Given the description of an element on the screen output the (x, y) to click on. 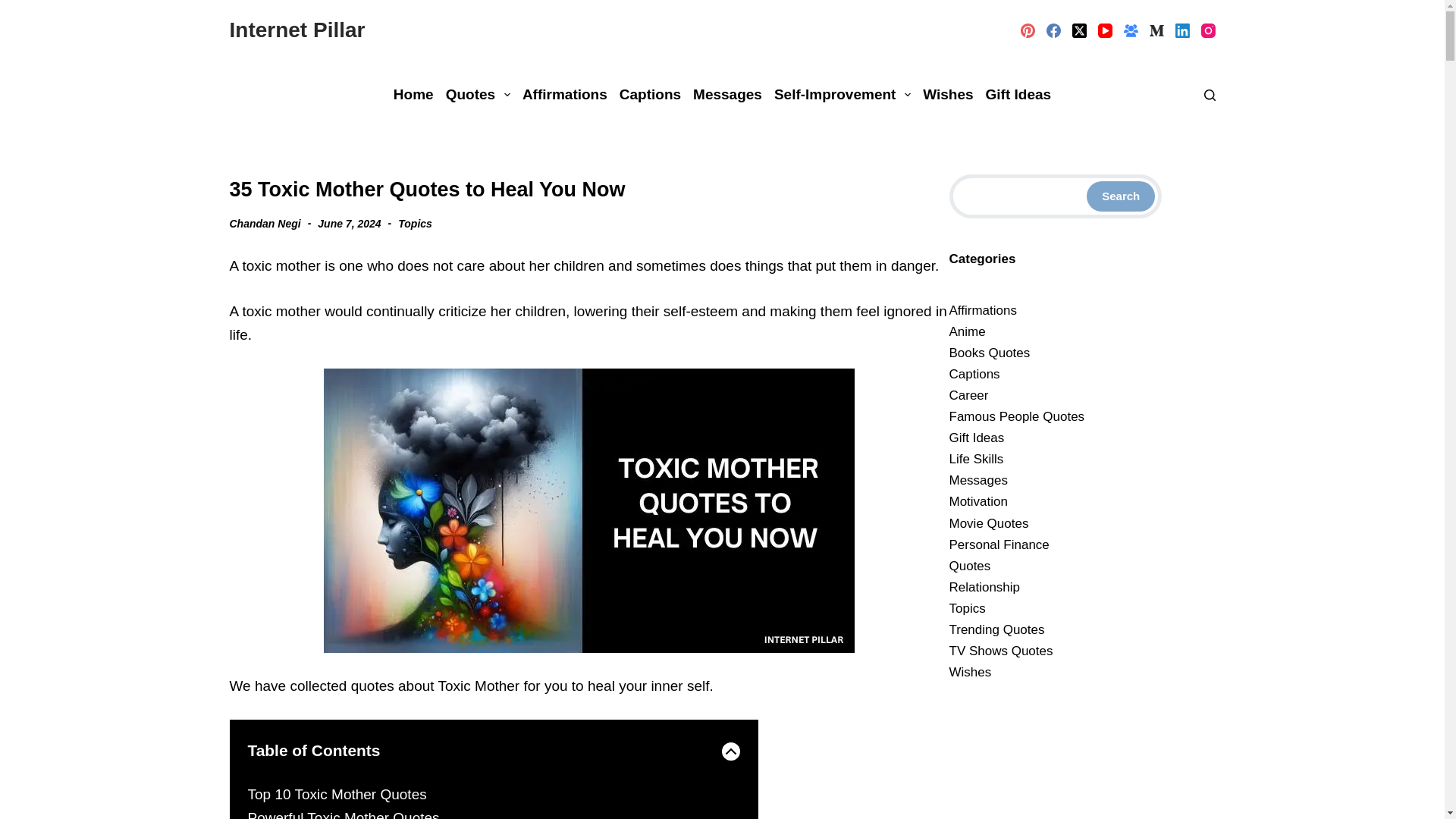
35 Toxic Mother Quotes to Heal You Now (588, 189)
Posts by Chandan Negi (263, 223)
Quotes (477, 94)
Skip to content (15, 7)
Internet Pillar (296, 29)
